Given the description of an element on the screen output the (x, y) to click on. 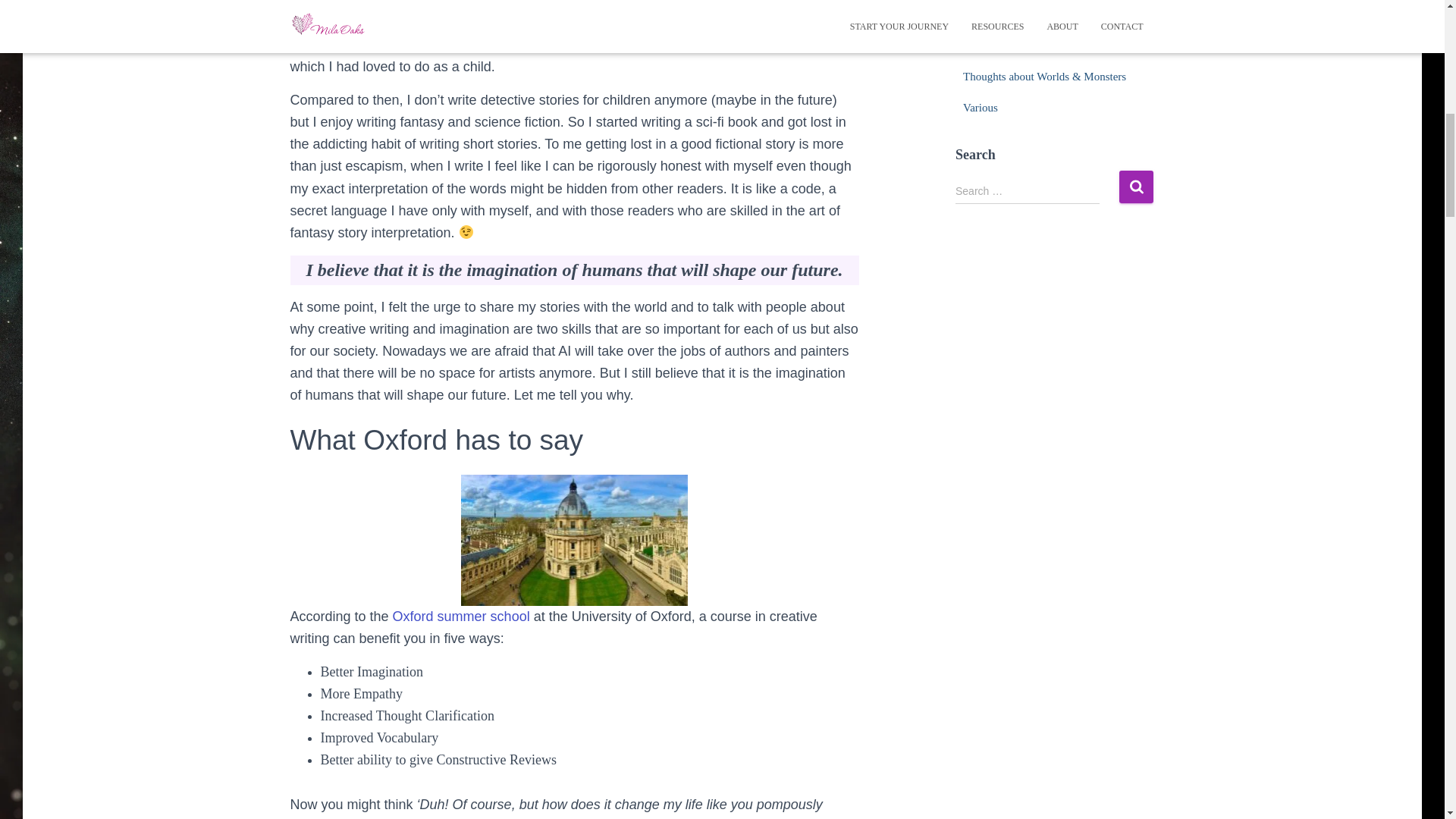
Oxford summer school (461, 616)
Search (1136, 186)
The Art of Writing (1005, 45)
Search (1136, 186)
Reviews to appease Valhalla (1027, 14)
Various (979, 107)
Search (1136, 186)
